Given the description of an element on the screen output the (x, y) to click on. 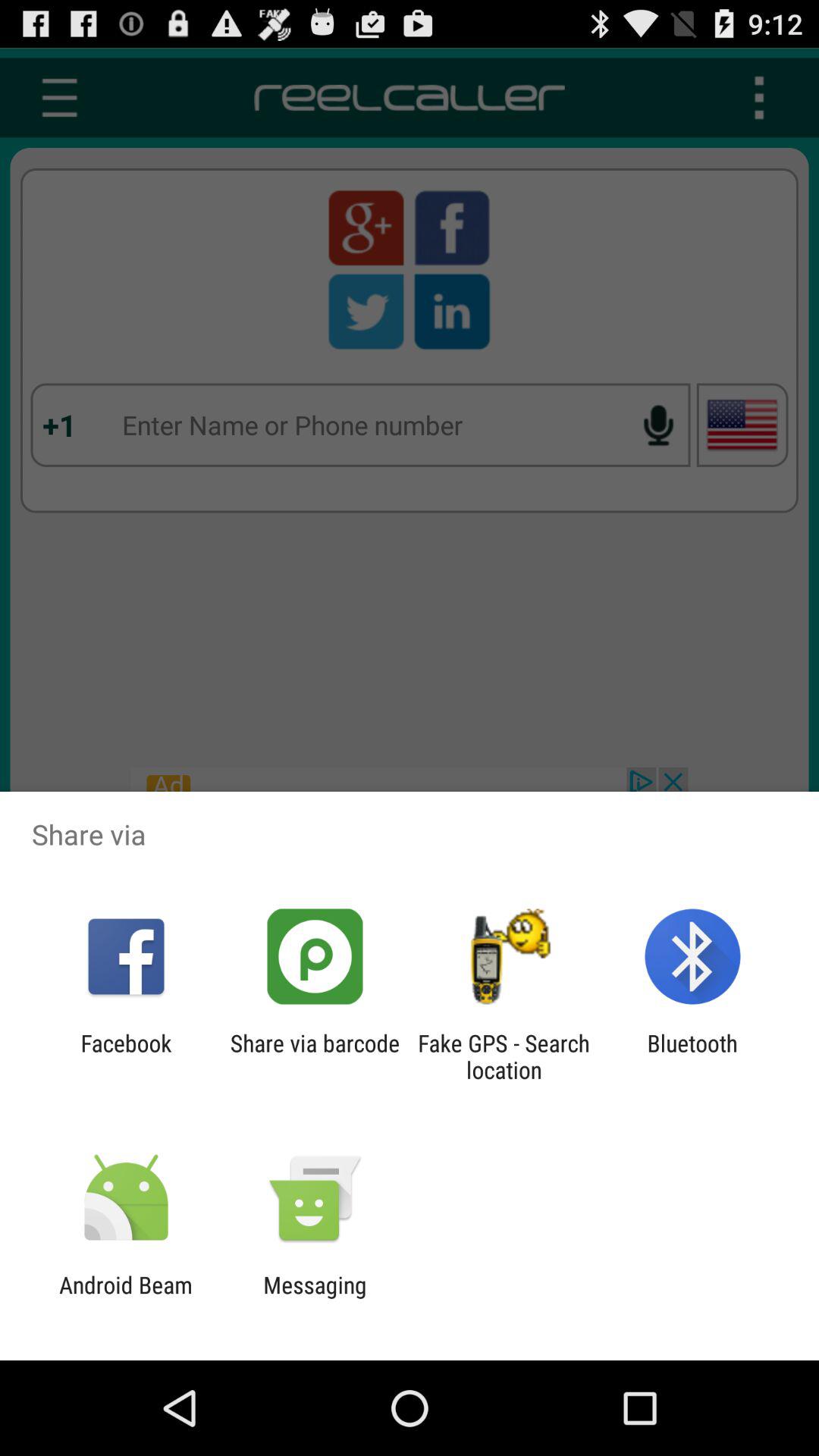
jump to bluetooth app (692, 1056)
